Given the description of an element on the screen output the (x, y) to click on. 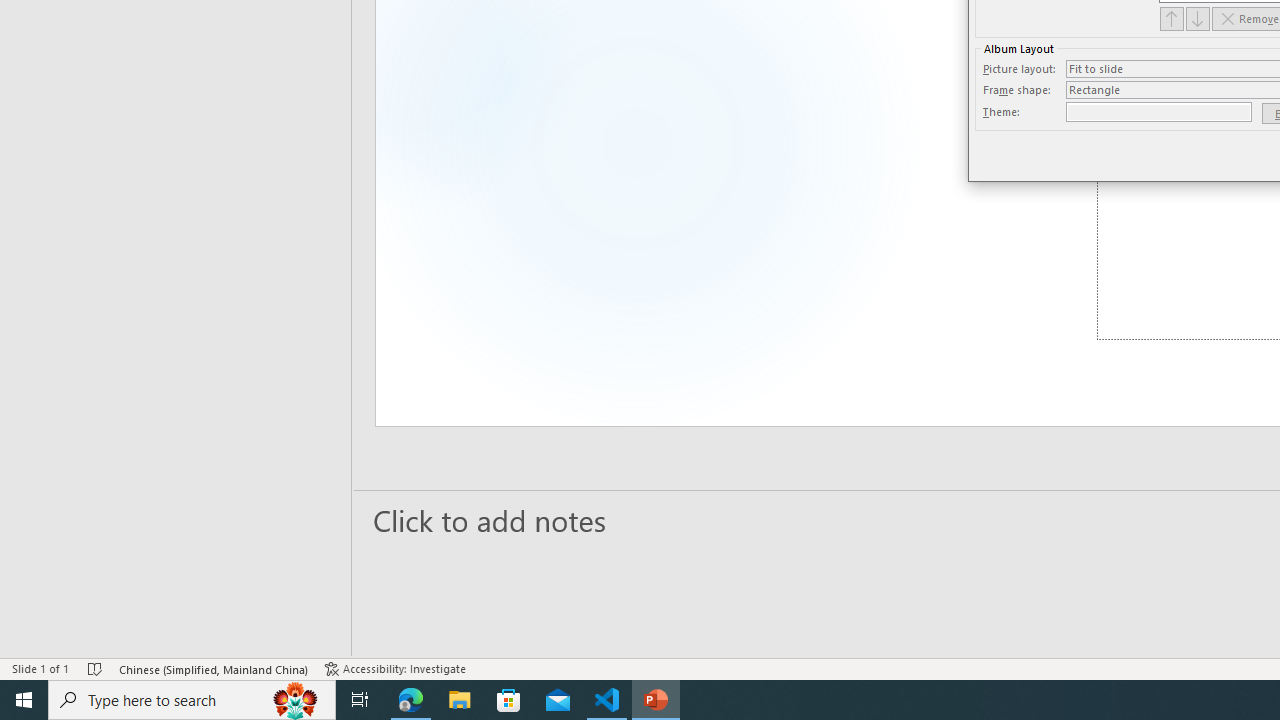
Start (24, 699)
Microsoft Store (509, 699)
PowerPoint - 1 running window (656, 699)
Previous Item (1171, 18)
Theme (1158, 111)
Accessibility Checker Accessibility: Investigate (395, 668)
Next Item (1197, 18)
Task View (359, 699)
File Explorer (460, 699)
Type here to search (191, 699)
Microsoft Edge - 1 running window (411, 699)
Visual Studio Code - 1 running window (607, 699)
Search highlights icon opens search home window (295, 699)
